Given the description of an element on the screen output the (x, y) to click on. 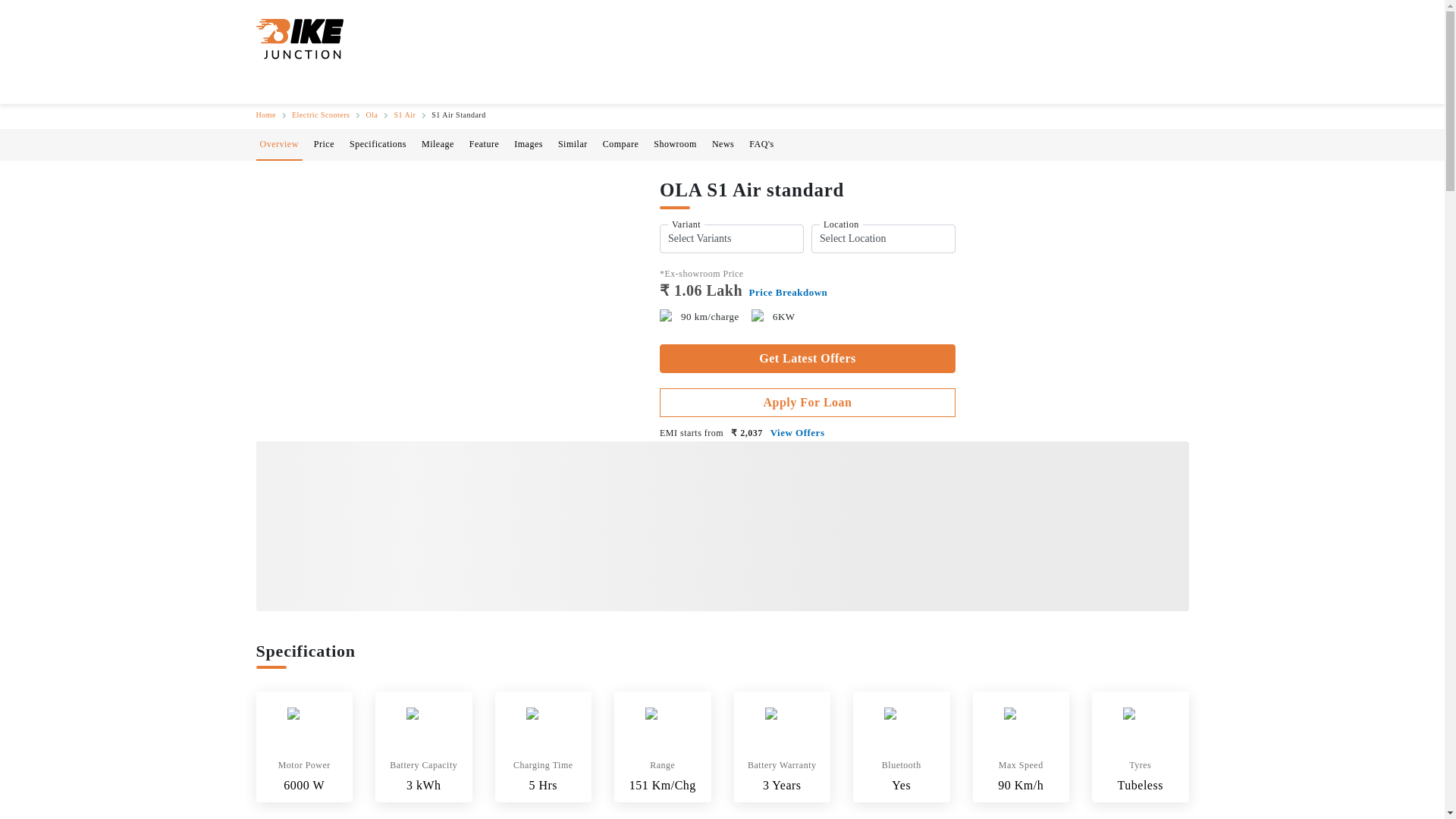
Get Latest Offers (807, 358)
Mileage (438, 143)
Compare (620, 143)
Similar (572, 143)
Feature (483, 143)
Overview (278, 143)
Showroom (675, 143)
Electric Scooters (321, 114)
Electric Scooters (321, 114)
Home (266, 114)
